Given the description of an element on the screen output the (x, y) to click on. 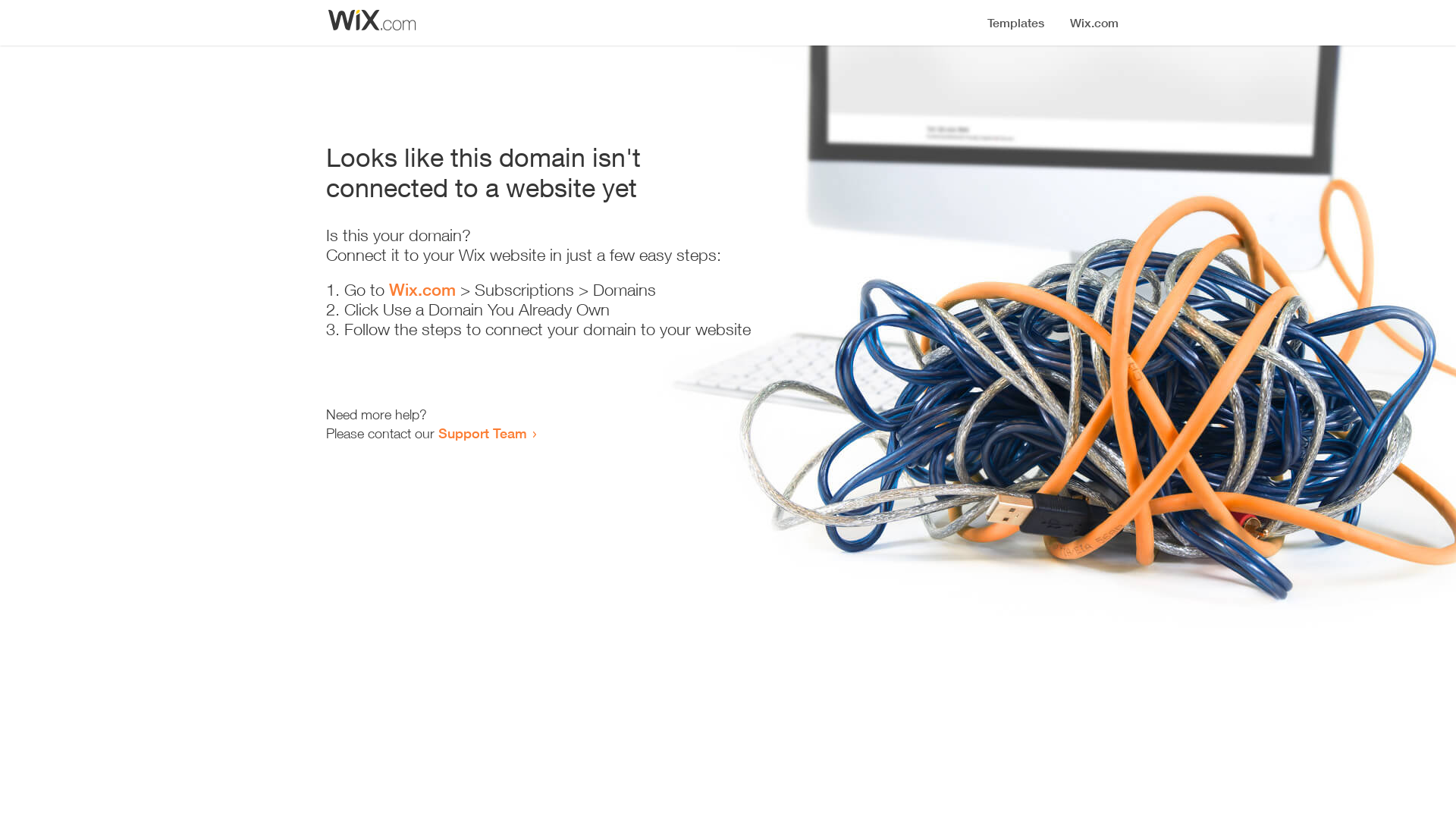
Wix.com Element type: text (422, 289)
Support Team Element type: text (482, 432)
